Given the description of an element on the screen output the (x, y) to click on. 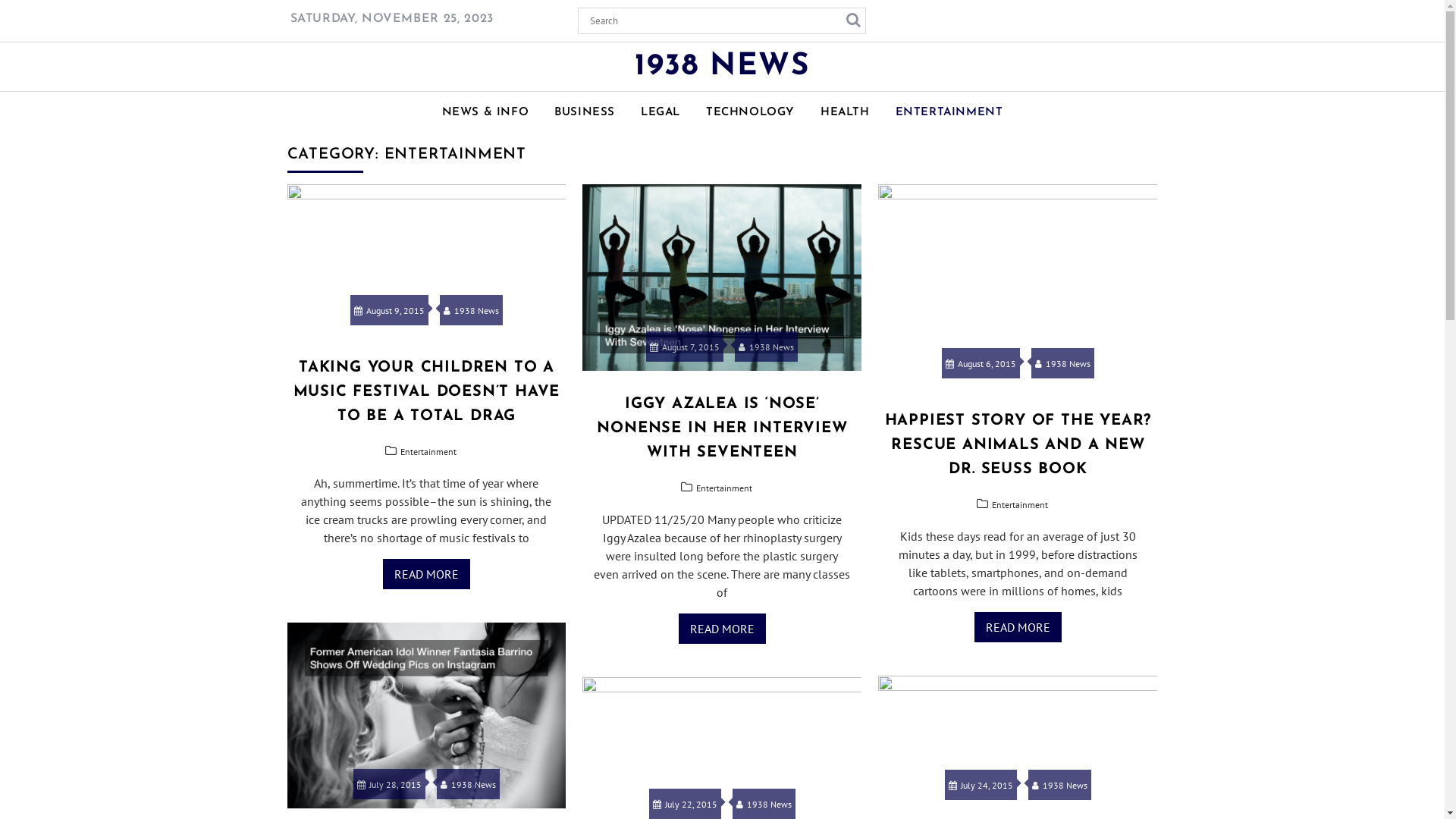
1938 News Element type: text (1059, 784)
August 6, 2015 Element type: text (980, 363)
READ MORE Element type: text (426, 573)
1938 News Element type: text (763, 803)
1938 News Element type: text (765, 346)
READ MORE Element type: text (721, 628)
July 22, 2015 Element type: text (684, 803)
Entertainment Element type: text (428, 451)
READ MORE Element type: text (1017, 626)
1938 NEWS Element type: text (721, 66)
Entertainment Element type: text (1019, 504)
ENTERTAINMENT Element type: text (949, 112)
HEALTH Element type: text (845, 112)
July 24, 2015 Element type: text (980, 784)
NEWS & INFO Element type: text (485, 112)
LEGAL Element type: text (660, 112)
TECHNOLOGY Element type: text (750, 112)
July 28, 2015 Element type: text (389, 784)
August 7, 2015 Element type: text (684, 346)
BUSINESS Element type: text (584, 112)
Entertainment Element type: text (724, 487)
August 9, 2015 Element type: text (389, 310)
1938 News Element type: text (1062, 363)
1938 News Element type: text (467, 784)
1938 News Element type: text (470, 310)
